Given the description of an element on the screen output the (x, y) to click on. 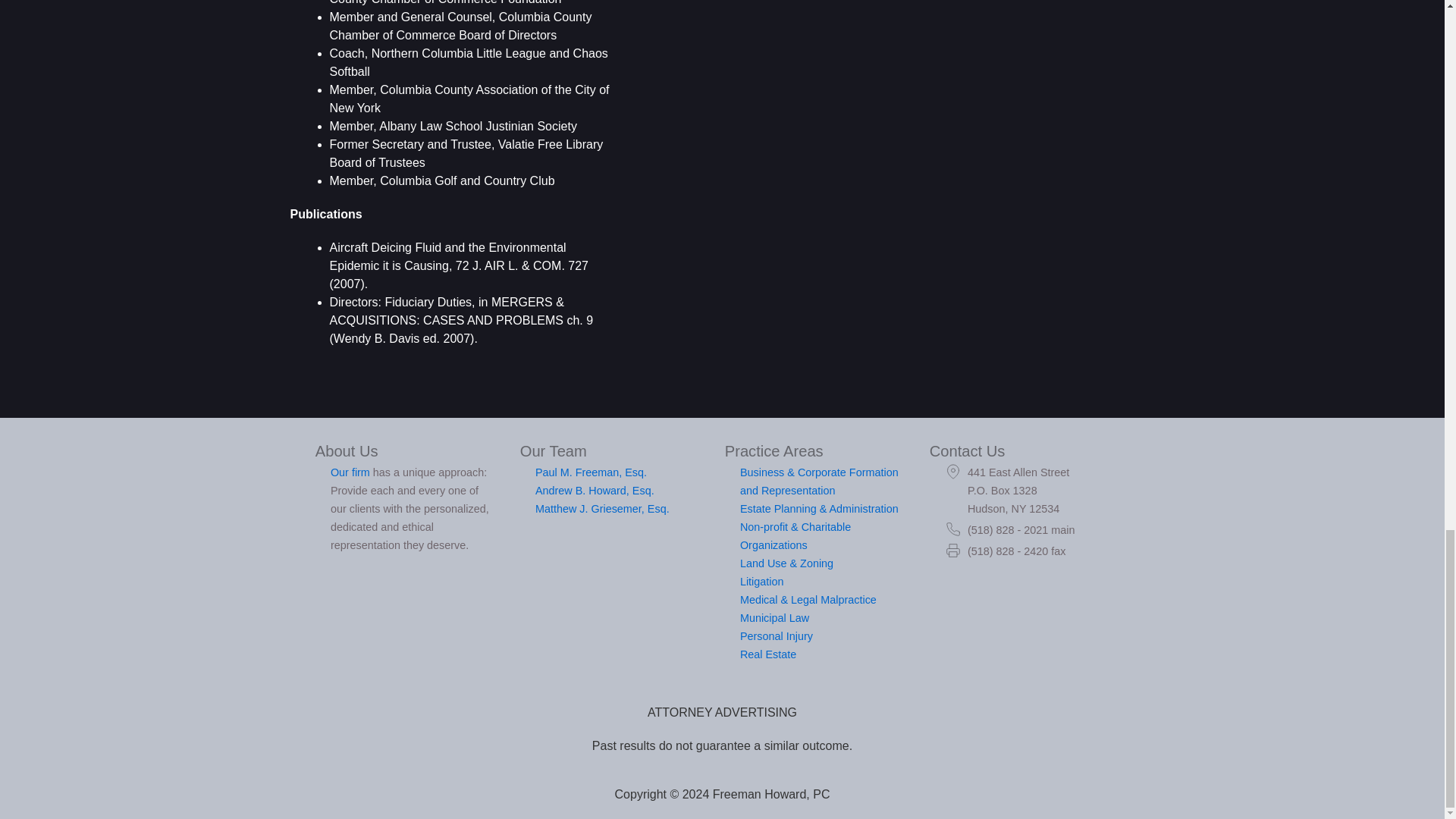
Matthew J. Griesemer, Esq. (602, 508)
Municipal Law (774, 617)
Andrew B. Howard, Esq. (594, 490)
Our firm (349, 472)
Paul M. Freeman, Esq. (590, 472)
Litigation (761, 581)
Personal Injury (775, 635)
